Given the description of an element on the screen output the (x, y) to click on. 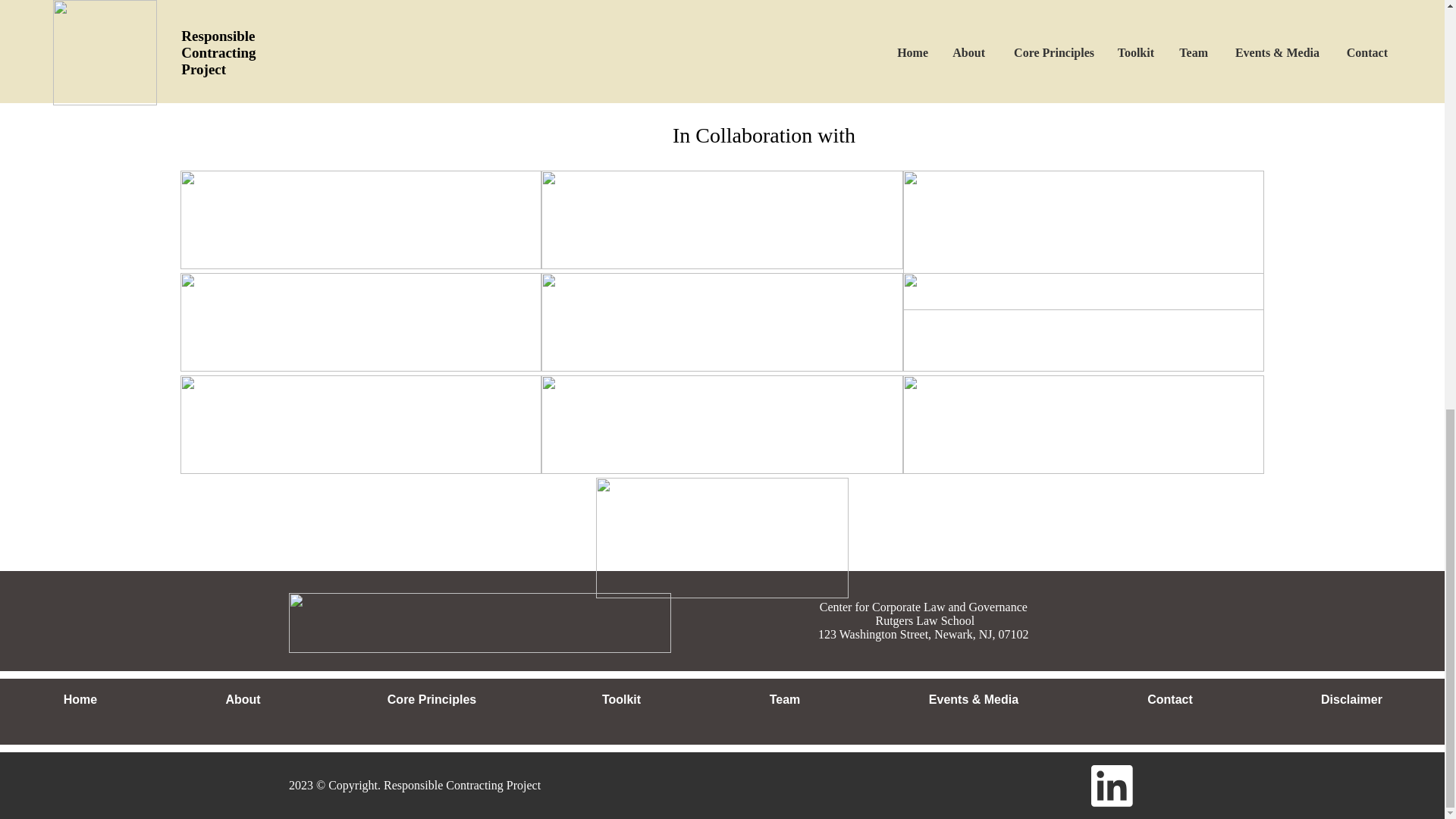
Home (80, 699)
Contact (1169, 699)
Team (783, 699)
About (242, 699)
Toolkit (620, 699)
Core Principles (431, 699)
